Given the description of an element on the screen output the (x, y) to click on. 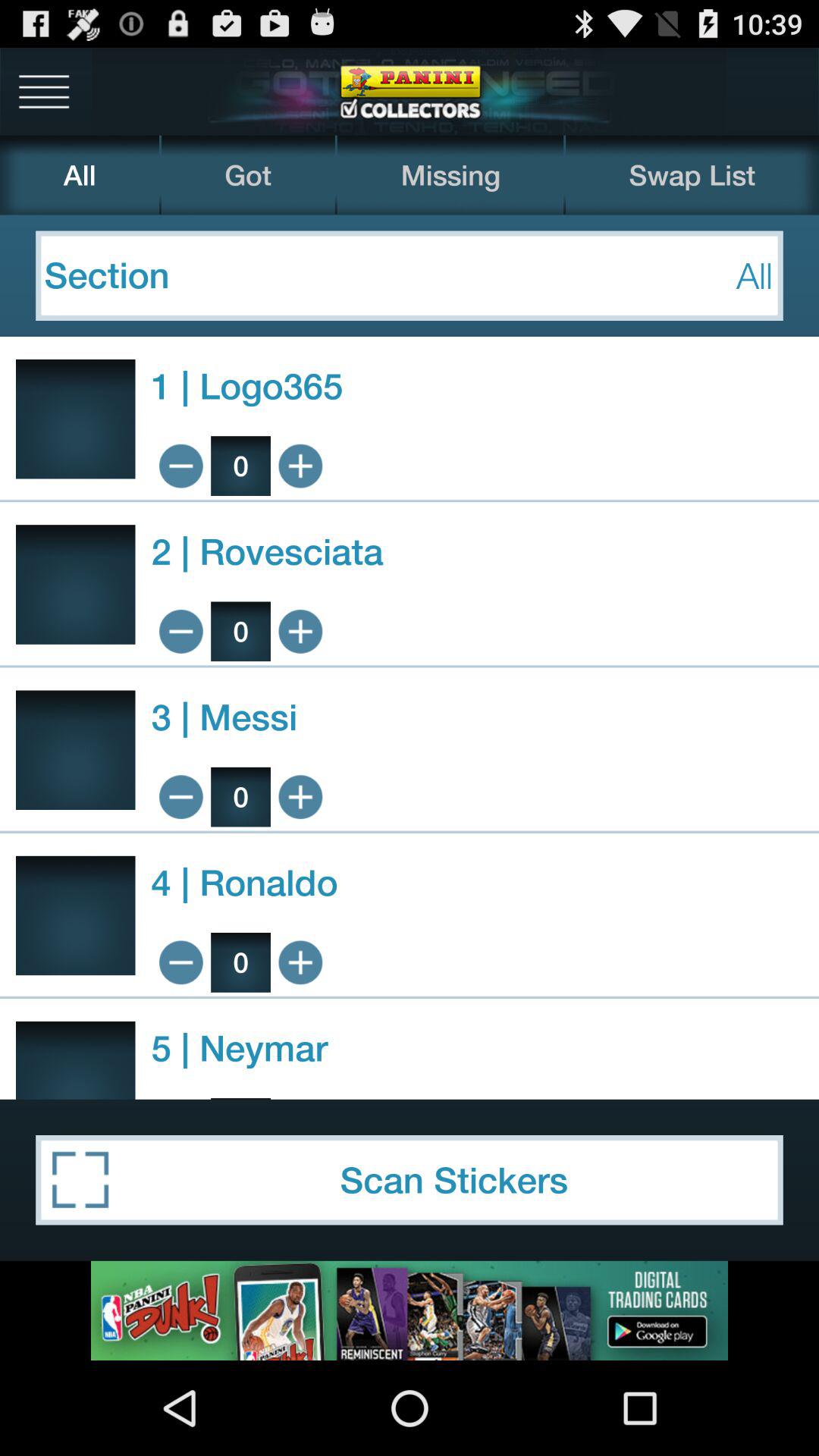
reduce the number of logo365 (181, 465)
